Given the description of an element on the screen output the (x, y) to click on. 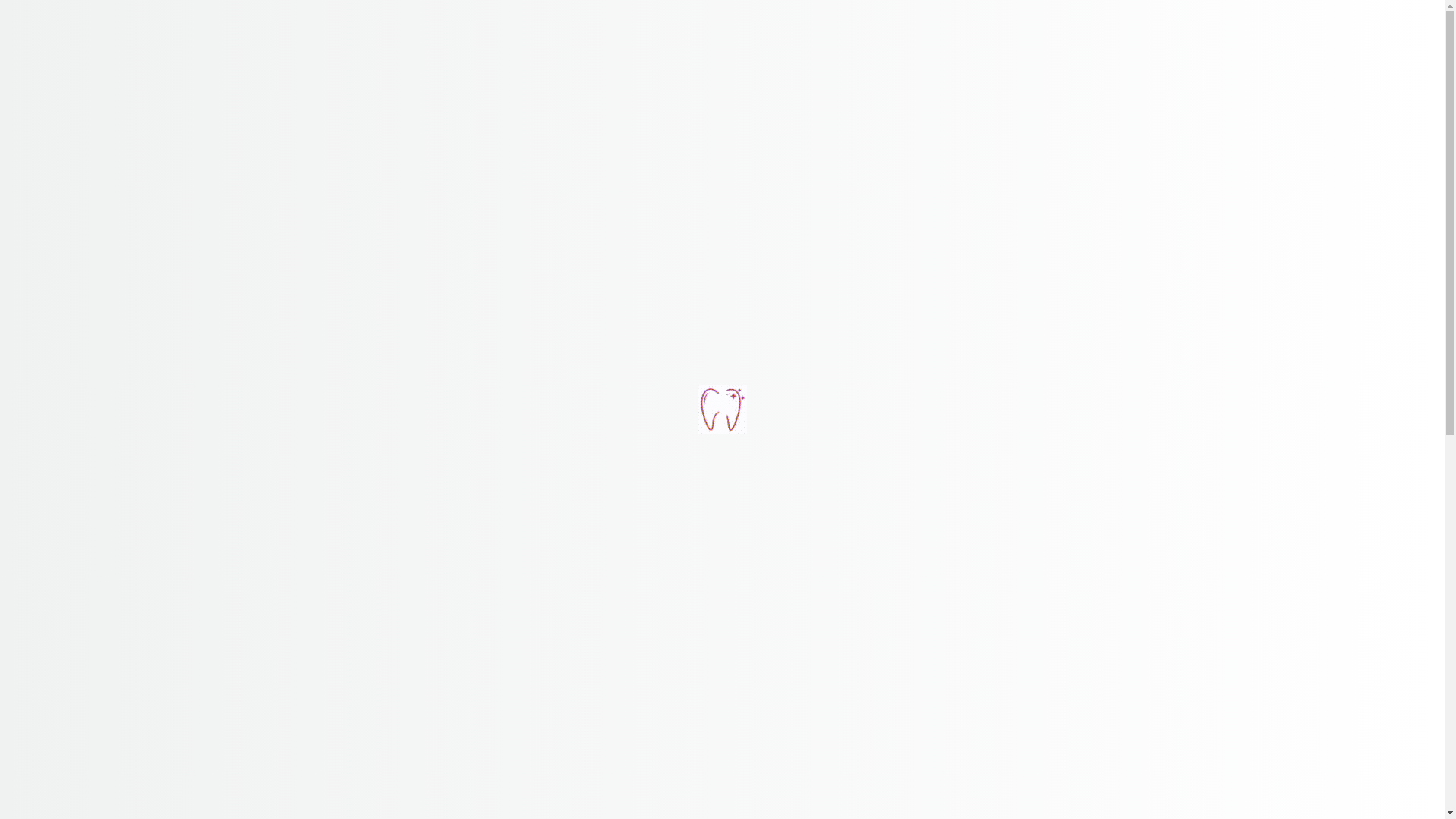
About Us (605, 97)
Services (687, 97)
Book an Appointment (1083, 19)
Home (535, 97)
